Given the description of an element on the screen output the (x, y) to click on. 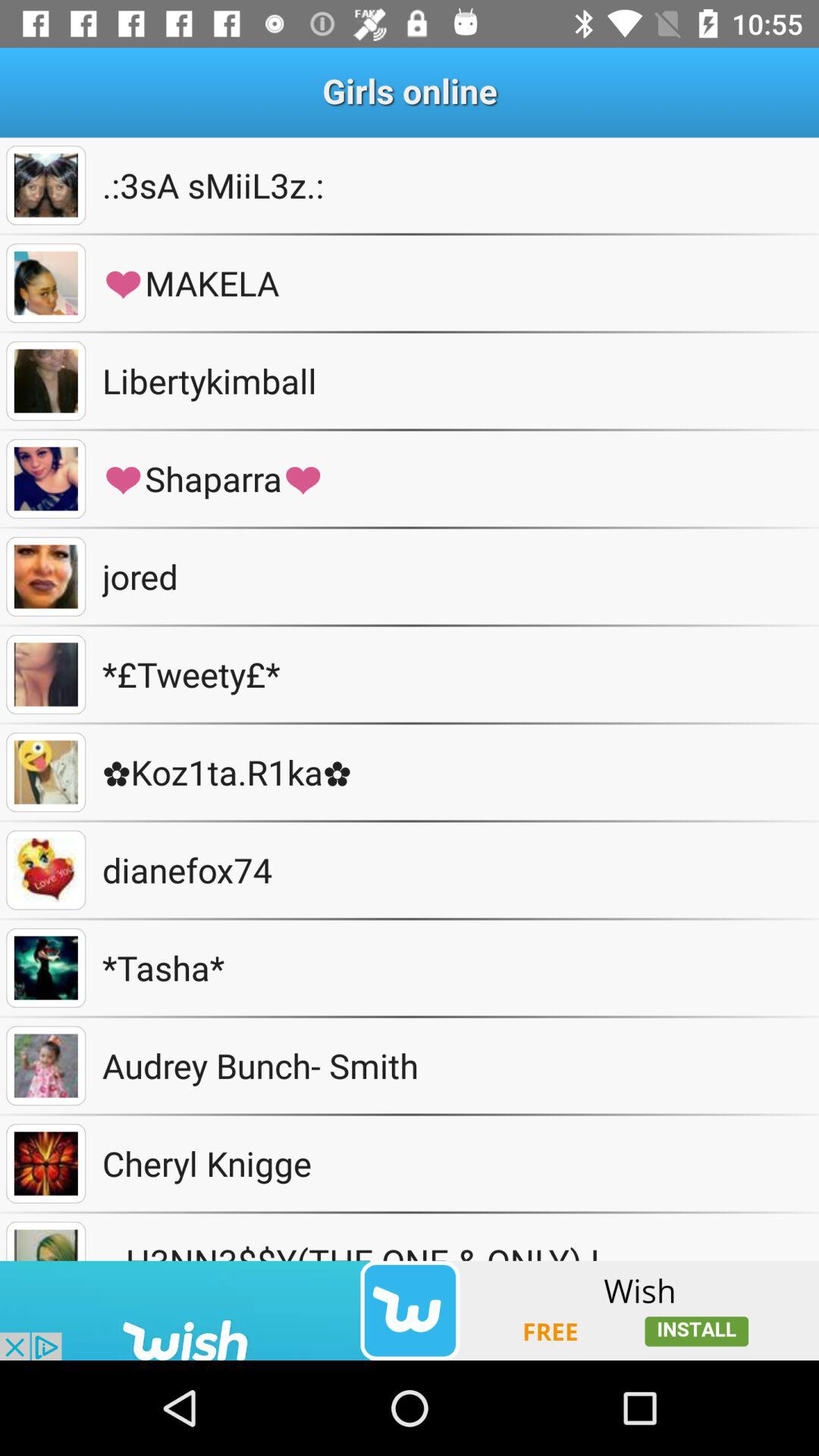
view *tweety* (45, 674)
